Given the description of an element on the screen output the (x, y) to click on. 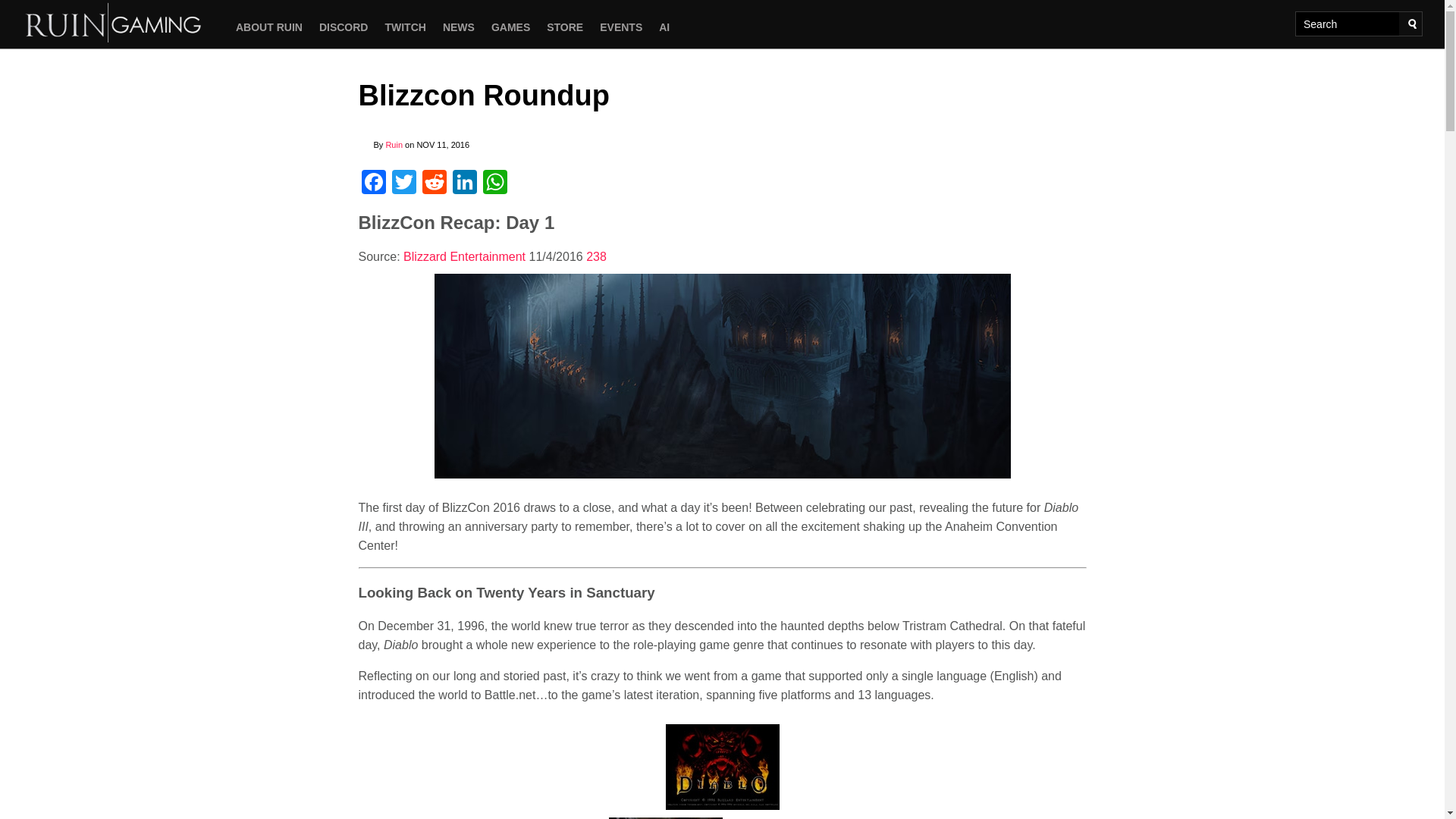
Search (1412, 24)
Twitter (403, 183)
WhatsApp (494, 183)
WhatsApp (494, 183)
STORE (564, 26)
Twitter (403, 183)
Search (1412, 24)
Posts by Ruin (394, 144)
TWITCH (404, 26)
Ruin (394, 144)
Search (1412, 24)
Nov 4, 2016 8:00 PM PDT (557, 256)
Search (1412, 24)
EVENTS (620, 26)
Facebook (373, 183)
